Given the description of an element on the screen output the (x, y) to click on. 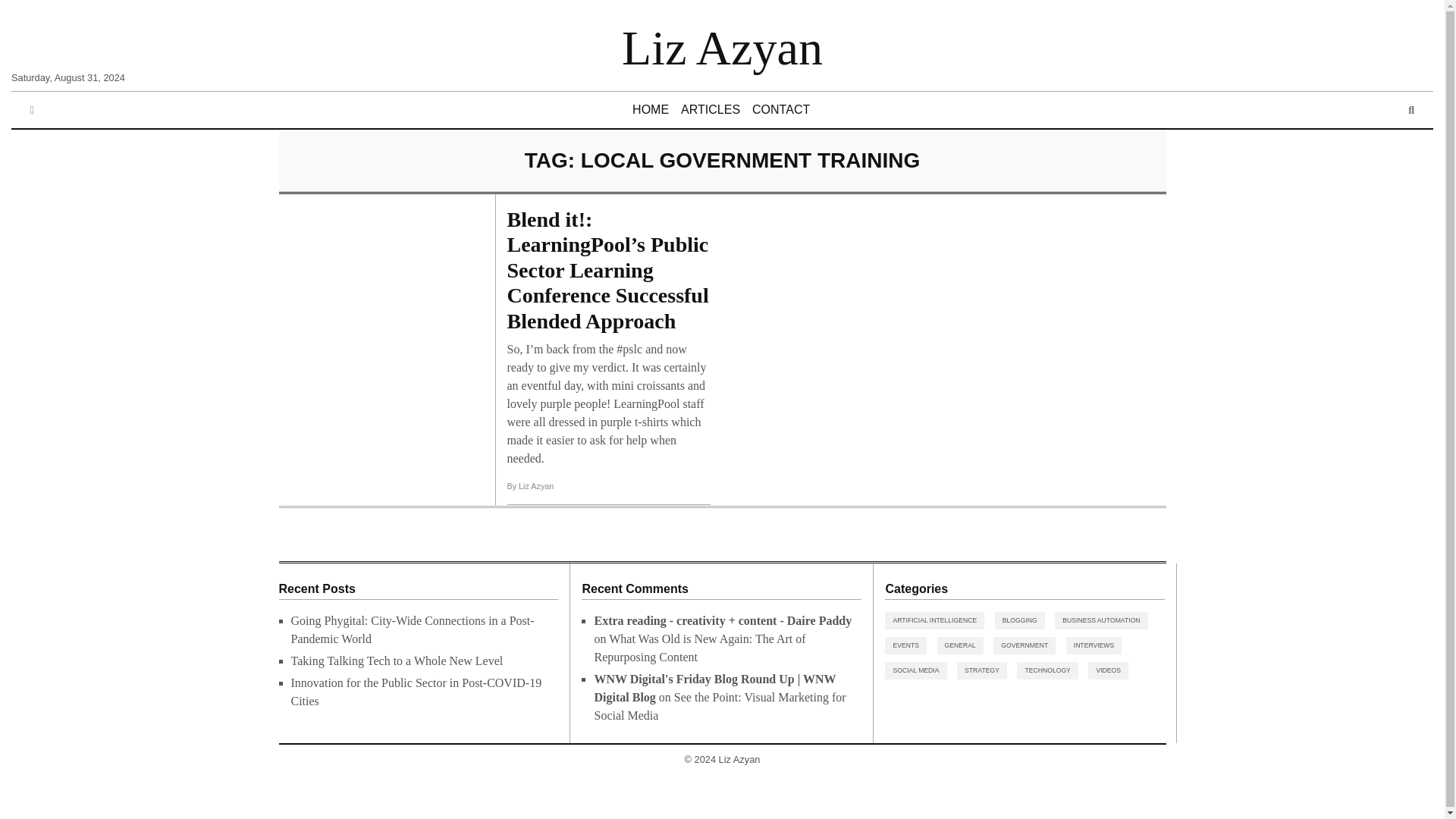
TECHNOLOGY (1046, 670)
ARTICLES (710, 110)
EVENTS (905, 645)
What Was Old is New Again: The Art of Repurposing Content (699, 647)
Taking Talking Tech to a Whole New Level (397, 660)
VIDEOS (1107, 670)
Liz Azyan (721, 48)
Innovation for the Public Sector in Post-COVID-19 Cities (416, 691)
HOME (650, 110)
STRATEGY (981, 670)
